Given the description of an element on the screen output the (x, y) to click on. 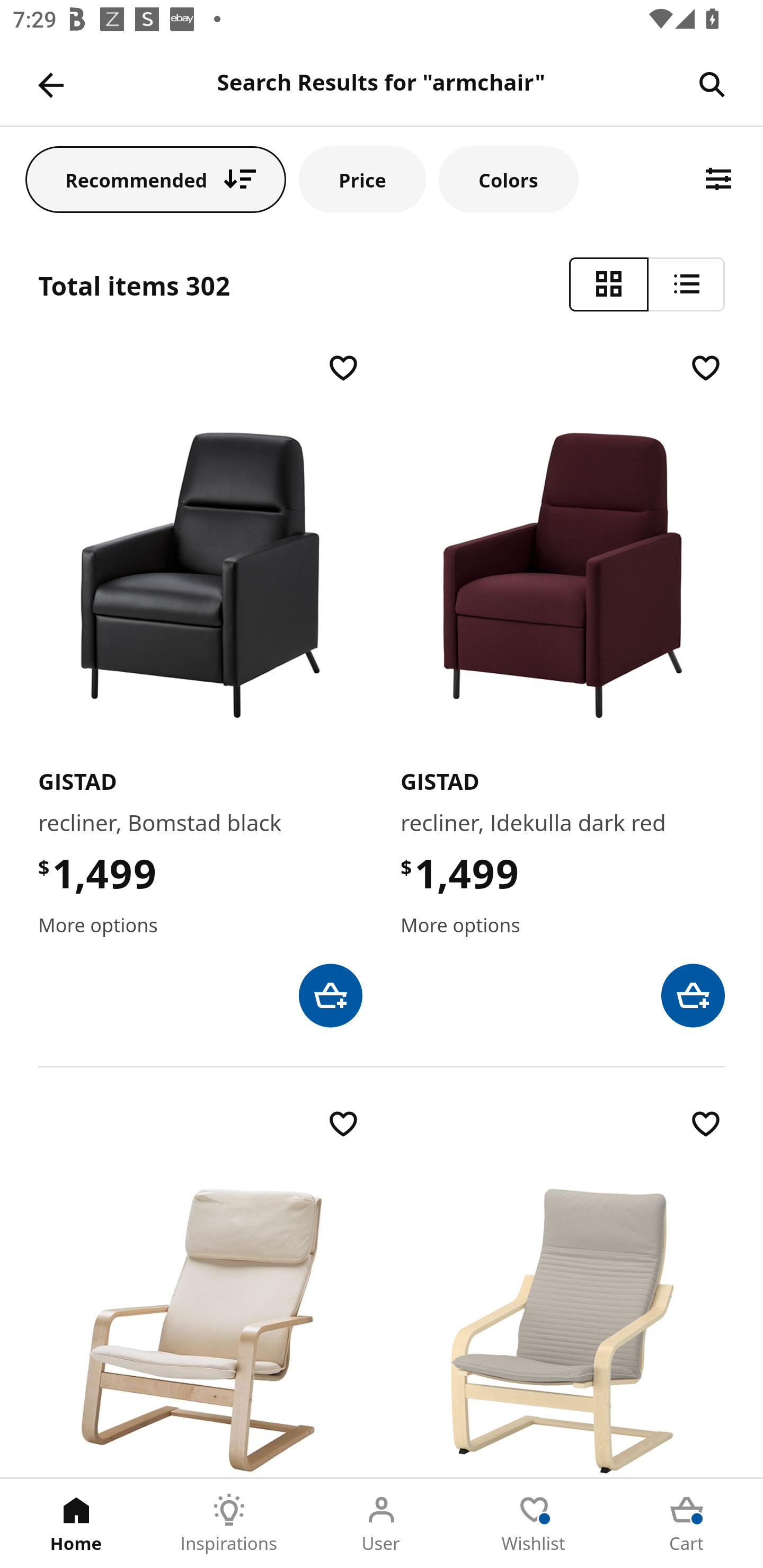
Recommended (155, 179)
Price (362, 179)
Colors (508, 179)
​P​E​L​L​O​
armchair, Holmby natural
$
449
.9 (200, 1291)
Home
Tab 1 of 5 (76, 1522)
Inspirations
Tab 2 of 5 (228, 1522)
User
Tab 3 of 5 (381, 1522)
Wishlist
Tab 4 of 5 (533, 1522)
Cart
Tab 5 of 5 (686, 1522)
